Given the description of an element on the screen output the (x, y) to click on. 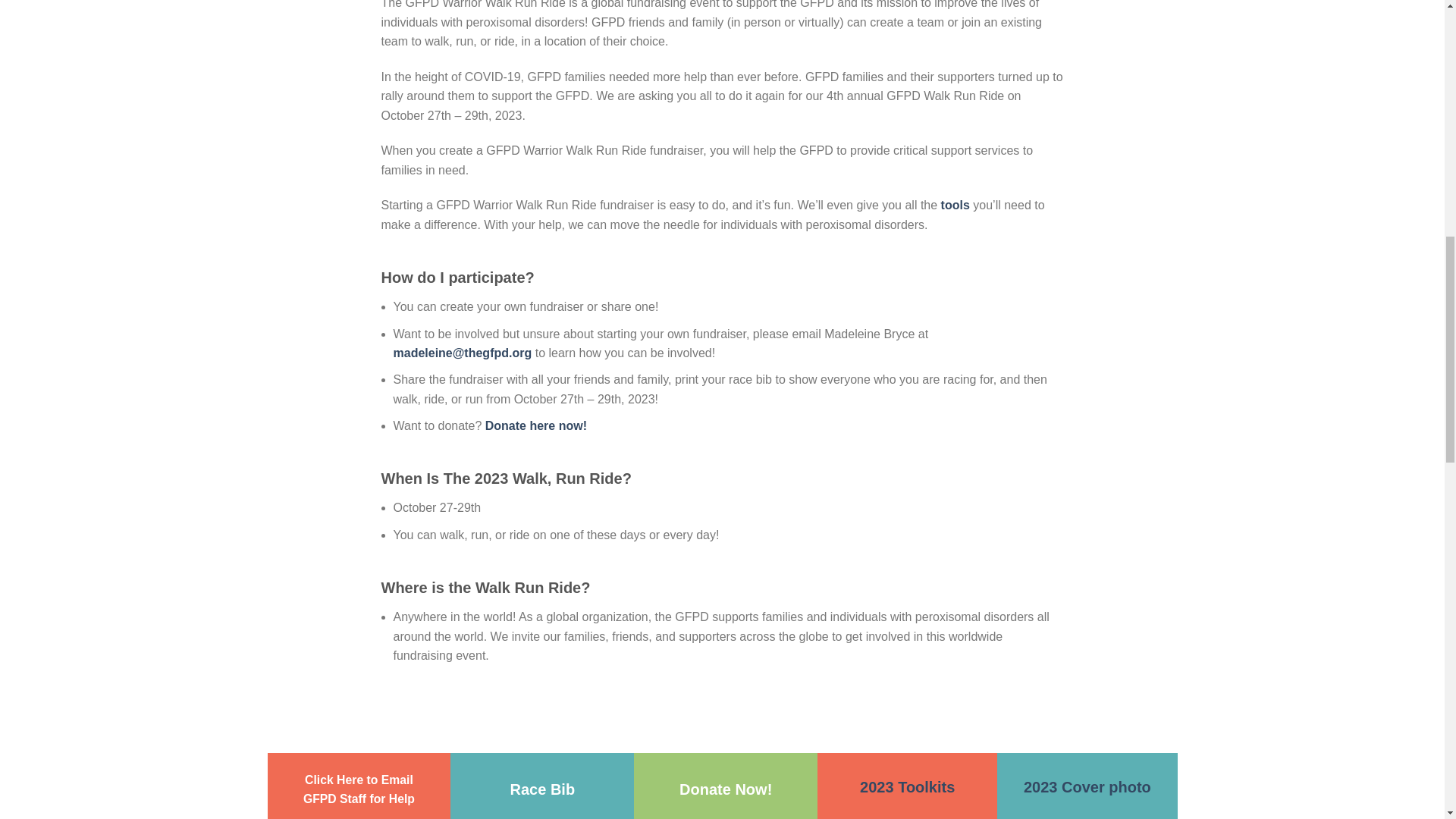
tools (954, 205)
